Given the description of an element on the screen output the (x, y) to click on. 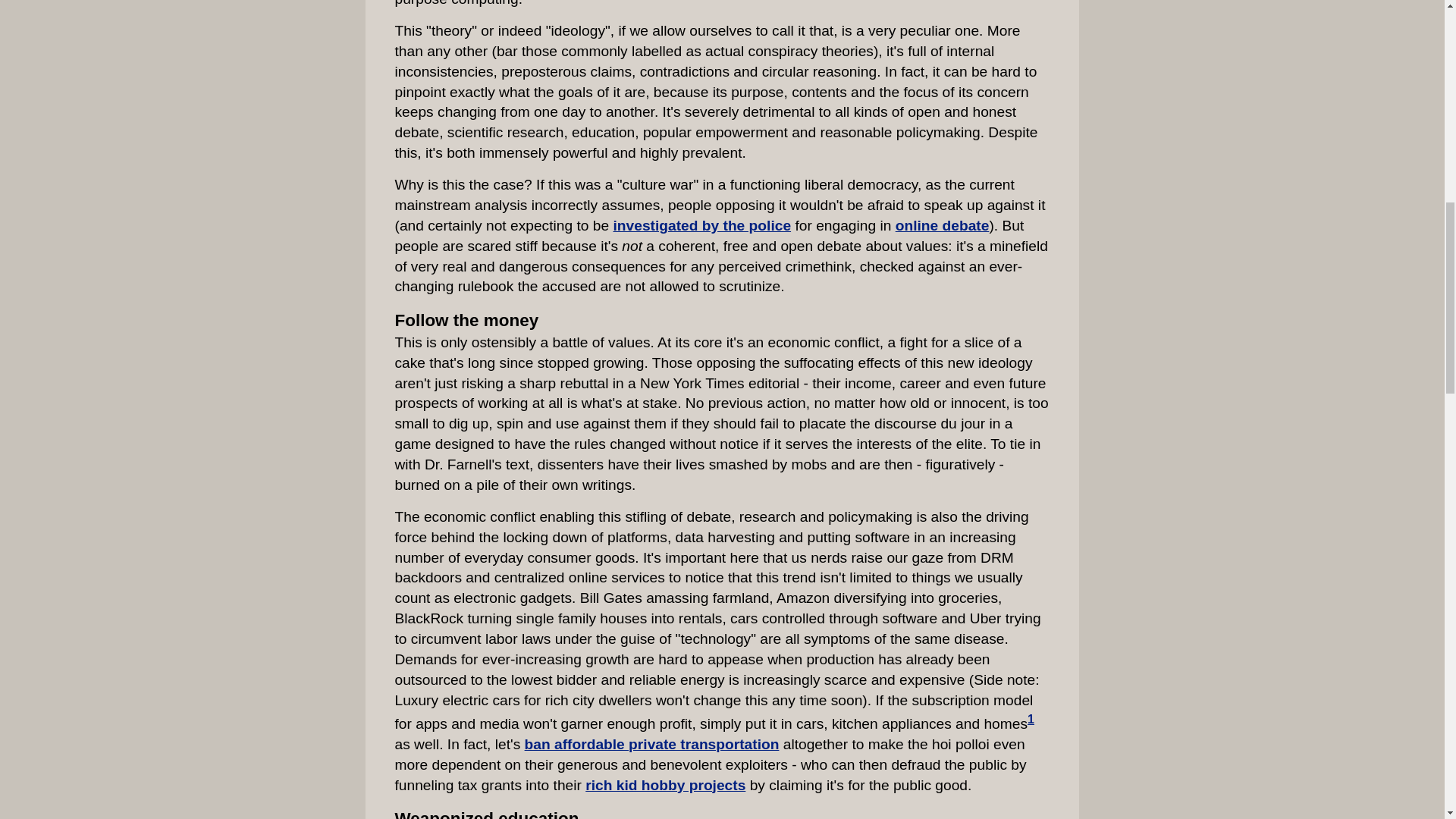
ban affordable private transportation (651, 744)
investigated by the police (701, 225)
online debate (942, 225)
rich kid hobby projects (665, 785)
